Given the description of an element on the screen output the (x, y) to click on. 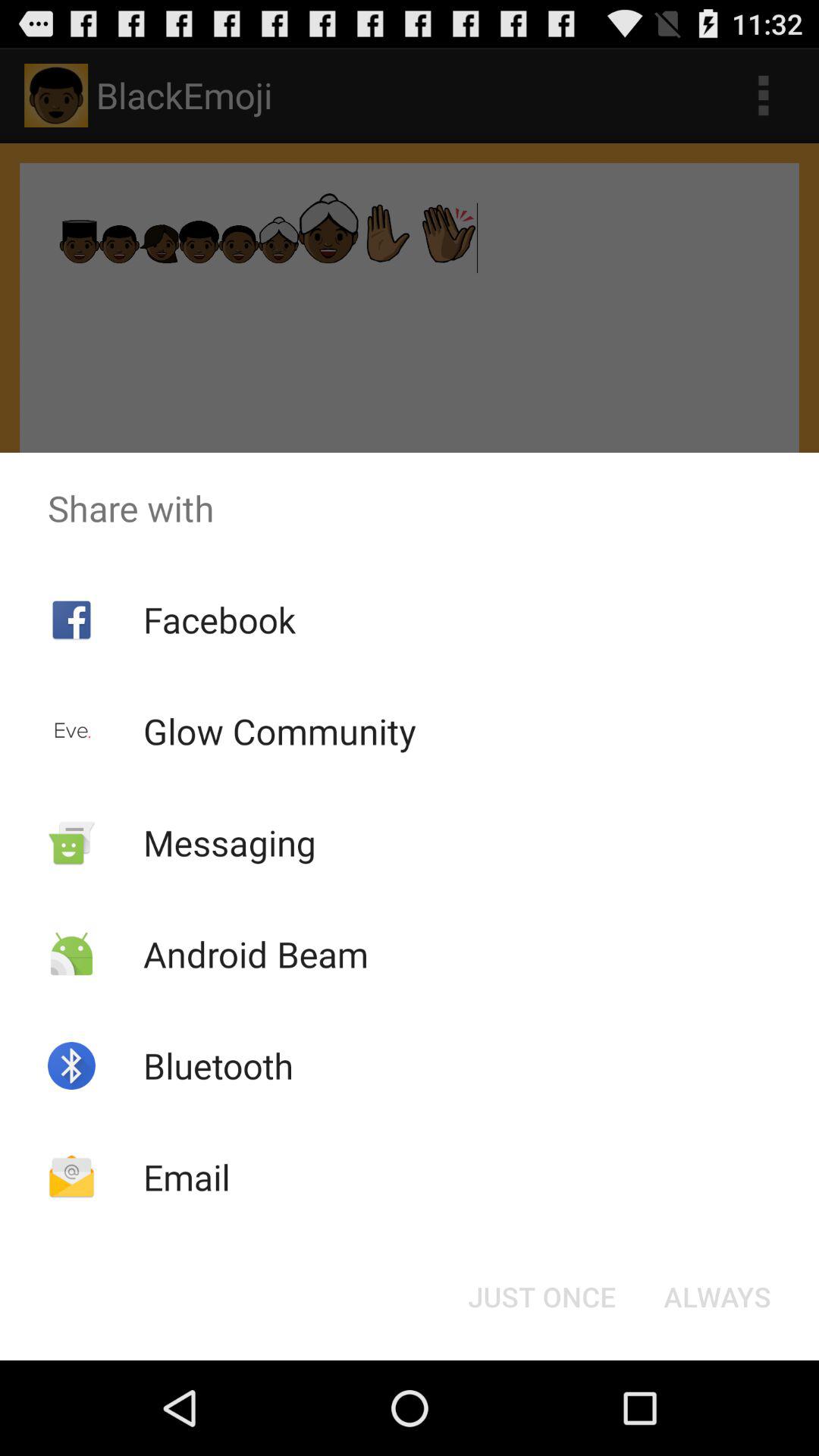
tap bluetooth app (218, 1065)
